Given the description of an element on the screen output the (x, y) to click on. 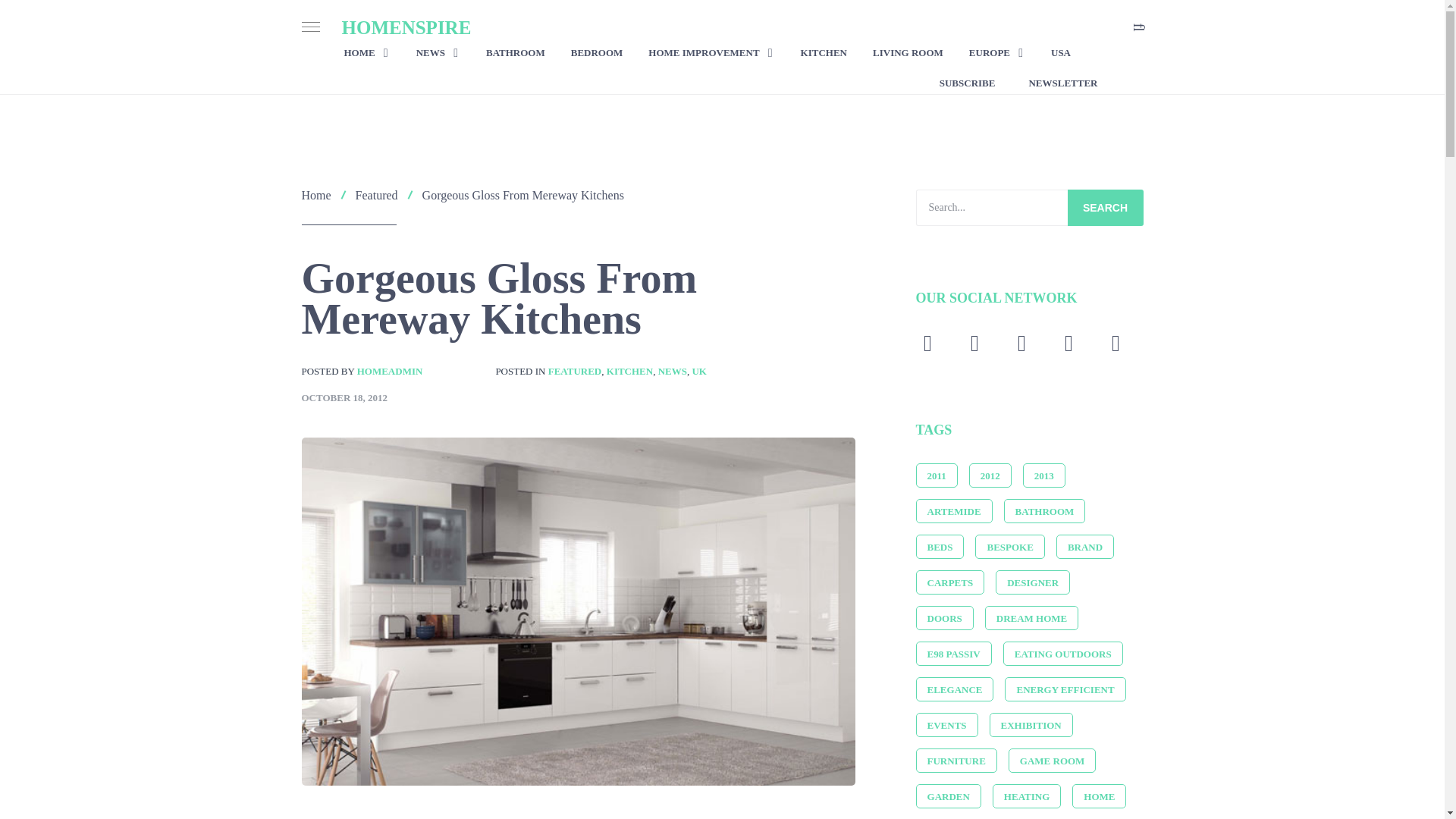
HOME (366, 53)
BEDROOM (596, 53)
KITCHEN (823, 53)
View all posts in Kitchen (629, 370)
EUROPE (997, 53)
Posts by homeadmin (389, 370)
HOMEADMIN (389, 370)
BATHROOM (515, 53)
View all posts in UK (698, 370)
View all posts in News (672, 370)
